Given the description of an element on the screen output the (x, y) to click on. 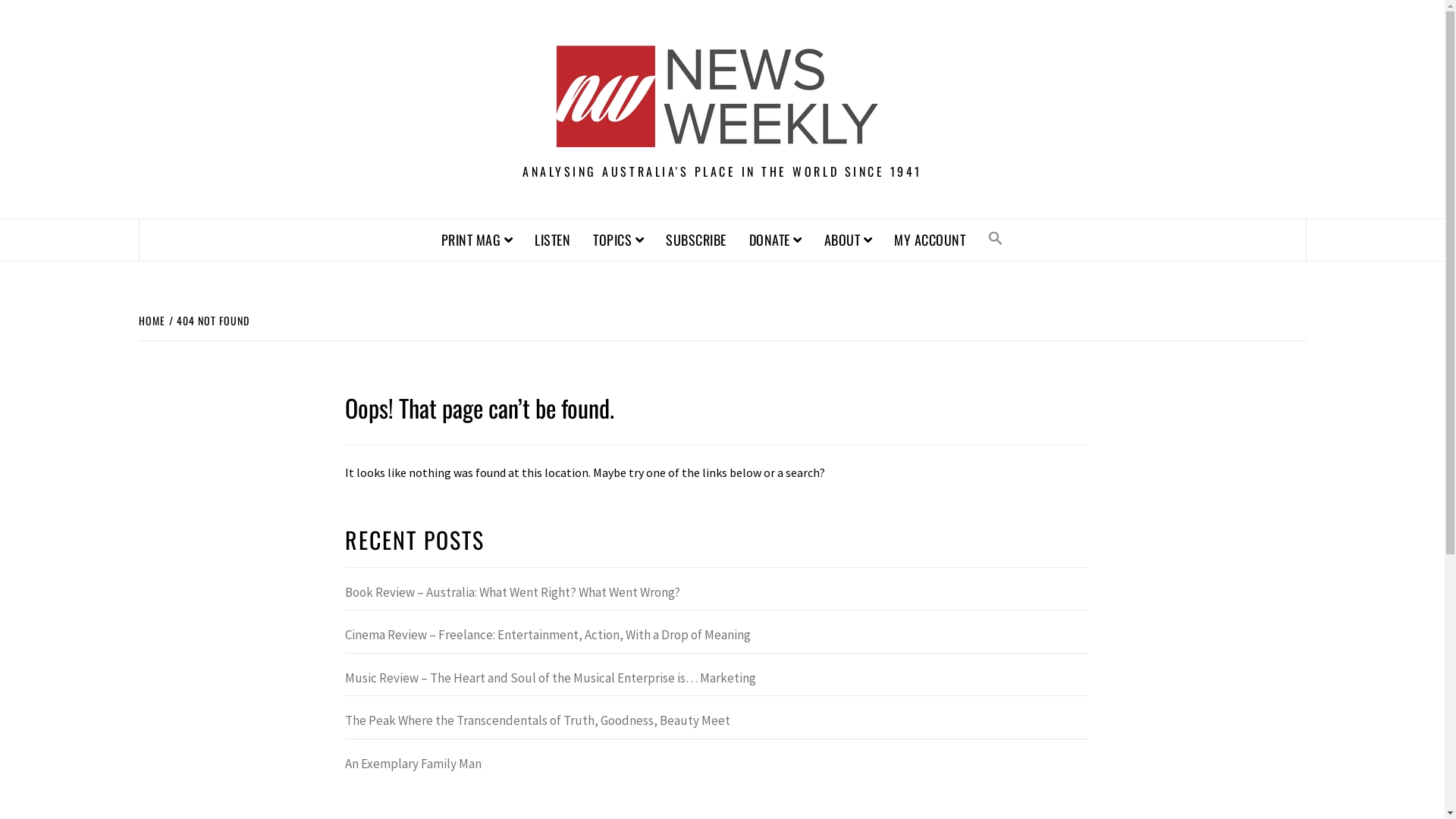
PRINT MAG Element type: text (476, 239)
ABOUT Element type: text (847, 239)
404 NOT FOUND Element type: text (210, 320)
An Exemplary Family Man Element type: text (716, 767)
MY ACCOUNT Element type: text (929, 239)
DONATE Element type: text (774, 239)
HOME Element type: text (153, 320)
LISTEN Element type: text (552, 239)
SUBSCRIBE Element type: text (695, 239)
TOPICS Element type: text (617, 239)
